Given the description of an element on the screen output the (x, y) to click on. 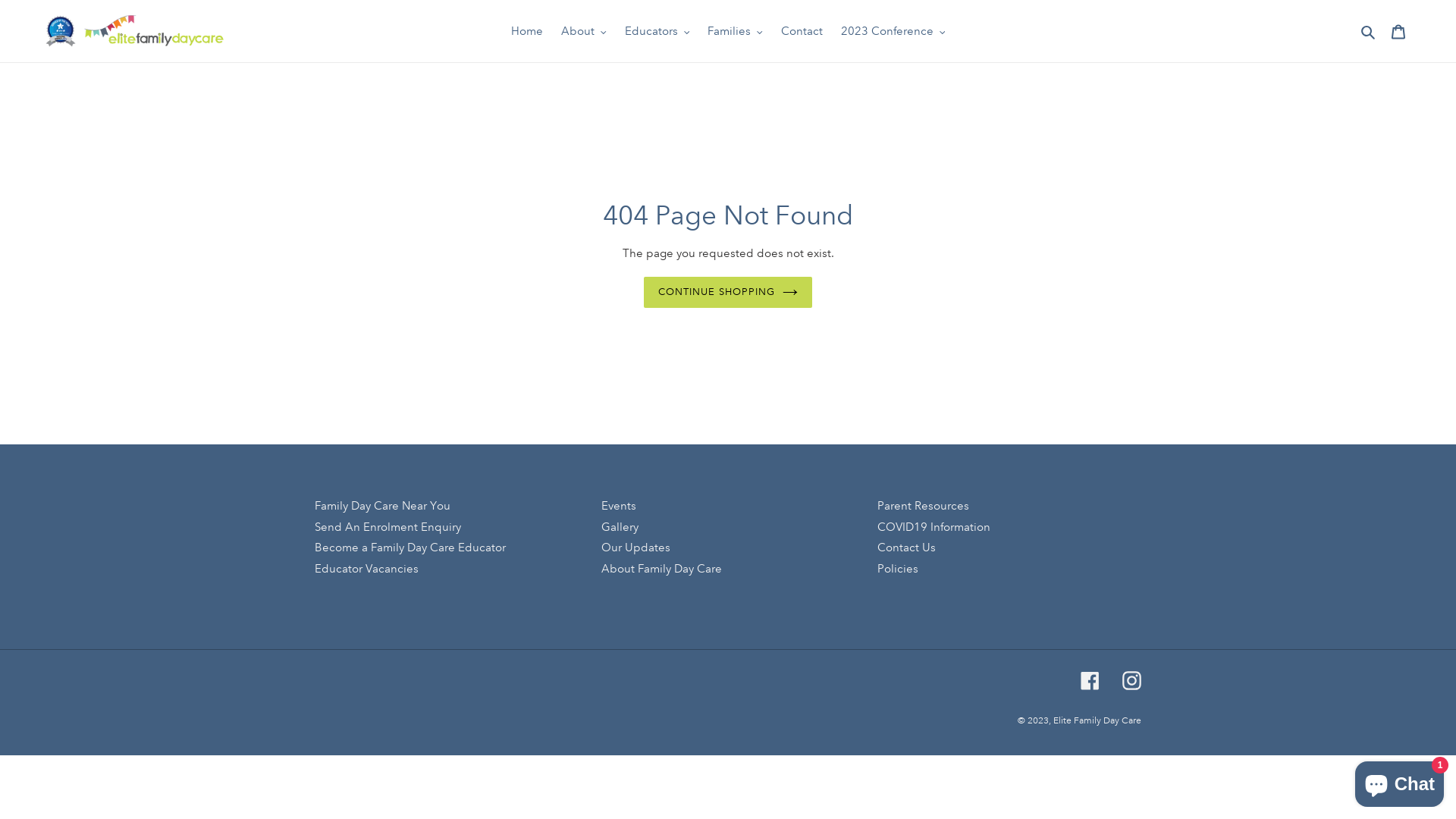
2023 Conference Element type: text (892, 31)
Educator Vacancies Element type: text (366, 568)
Family Day Care Near You Element type: text (382, 505)
Parent Resources Element type: text (923, 505)
Home Element type: text (526, 31)
Elite Family Day Care Element type: text (1097, 720)
Facebook Element type: text (1089, 680)
Events Element type: text (618, 505)
Contact Us Element type: text (906, 547)
Gallery Element type: text (619, 526)
Policies Element type: text (897, 568)
About Family Day Care Element type: text (661, 568)
Cart Element type: text (1398, 31)
Instagram Element type: text (1131, 680)
CONTINUE SHOPPING Element type: text (727, 292)
Search Element type: text (1368, 30)
Shopify online store chat Element type: hover (1399, 780)
Families Element type: text (734, 31)
Our Updates Element type: text (635, 547)
Send An Enrolment Enquiry Element type: text (387, 526)
Become a Family Day Care Educator Element type: text (409, 547)
Educators Element type: text (657, 31)
About Element type: text (583, 31)
Contact Element type: text (801, 31)
COVID19 Information Element type: text (933, 526)
